Given the description of an element on the screen output the (x, y) to click on. 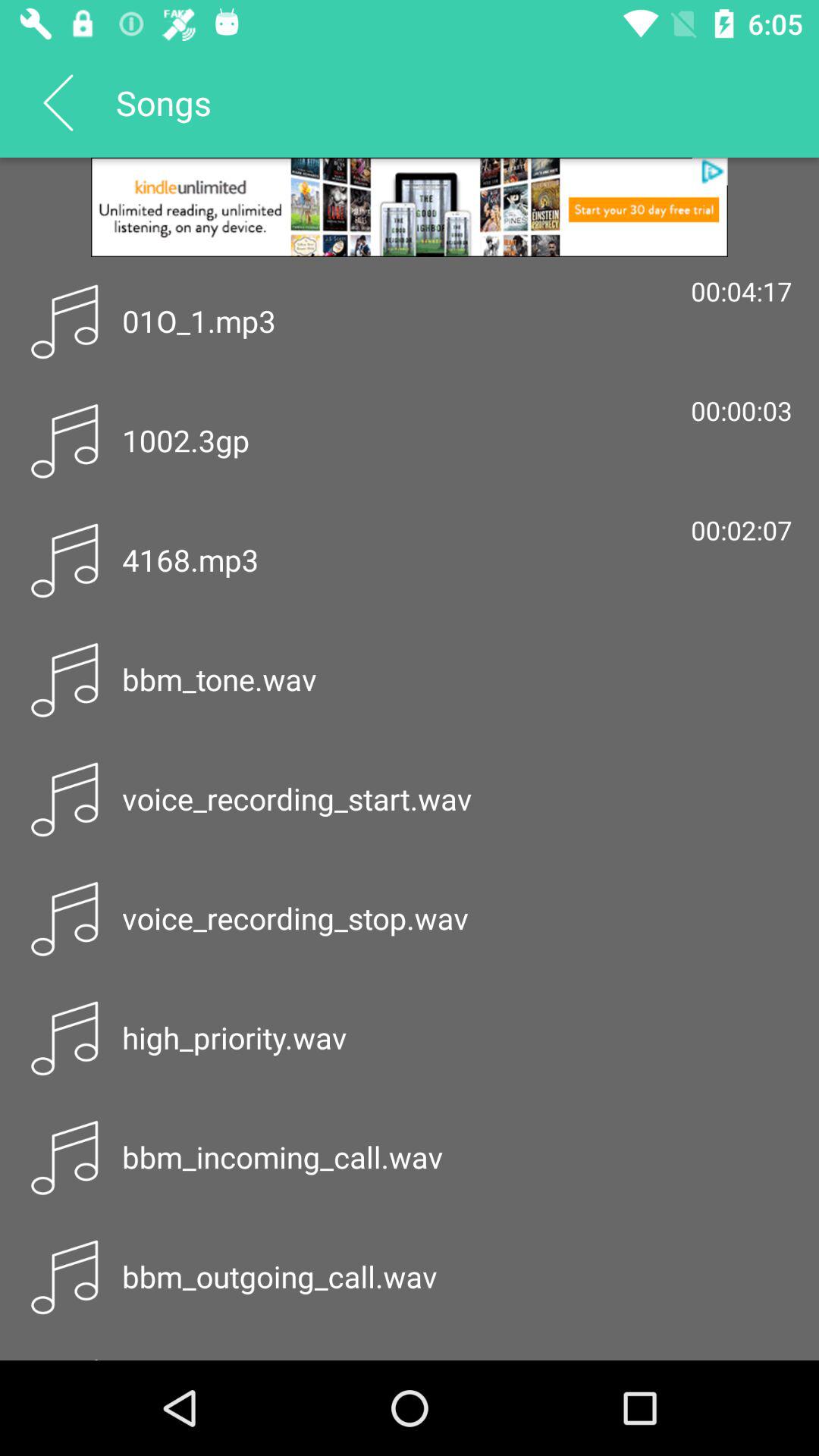
previews button (57, 102)
